Given the description of an element on the screen output the (x, y) to click on. 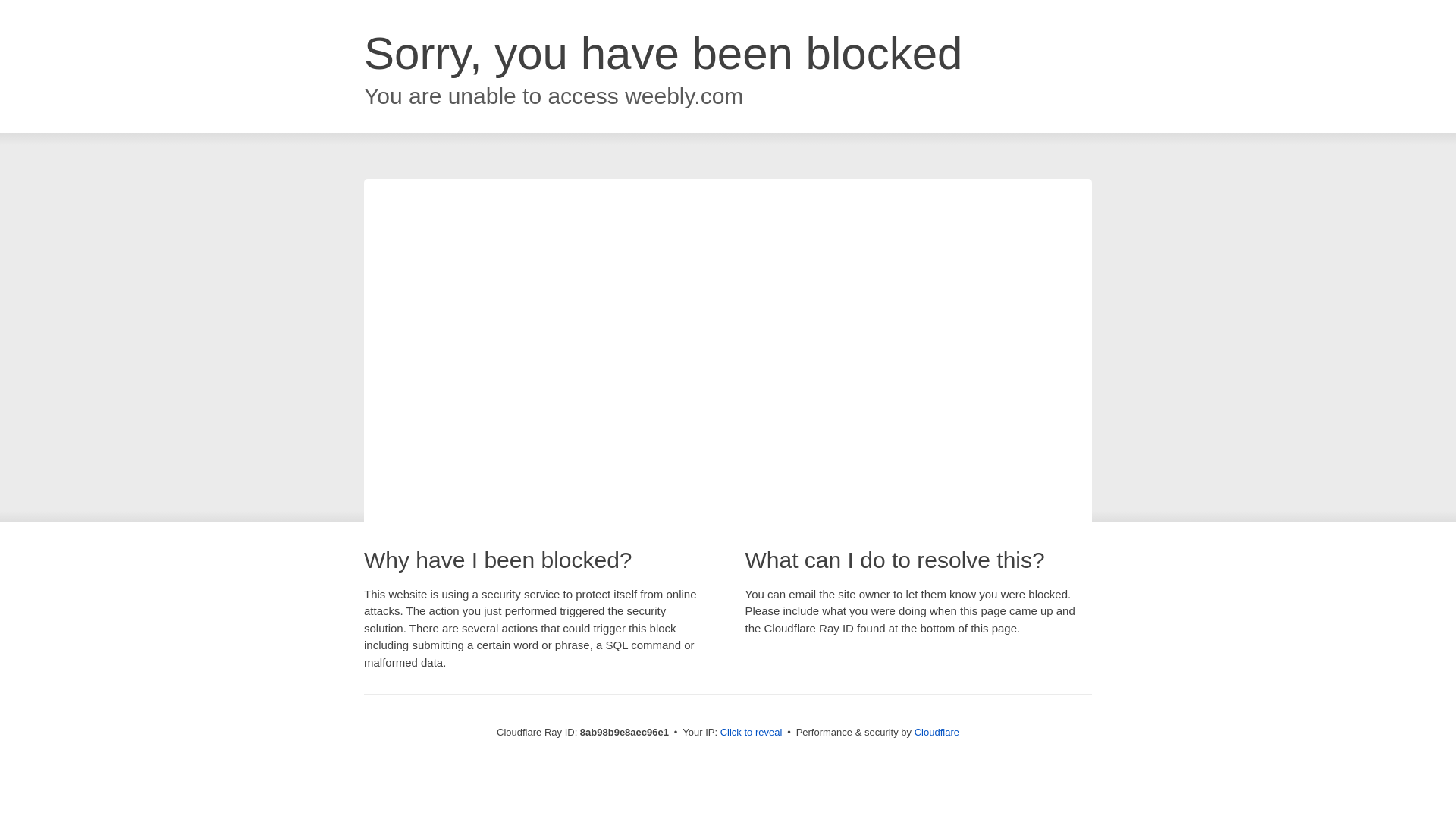
Cloudflare (936, 731)
Click to reveal (751, 732)
